Given the description of an element on the screen output the (x, y) to click on. 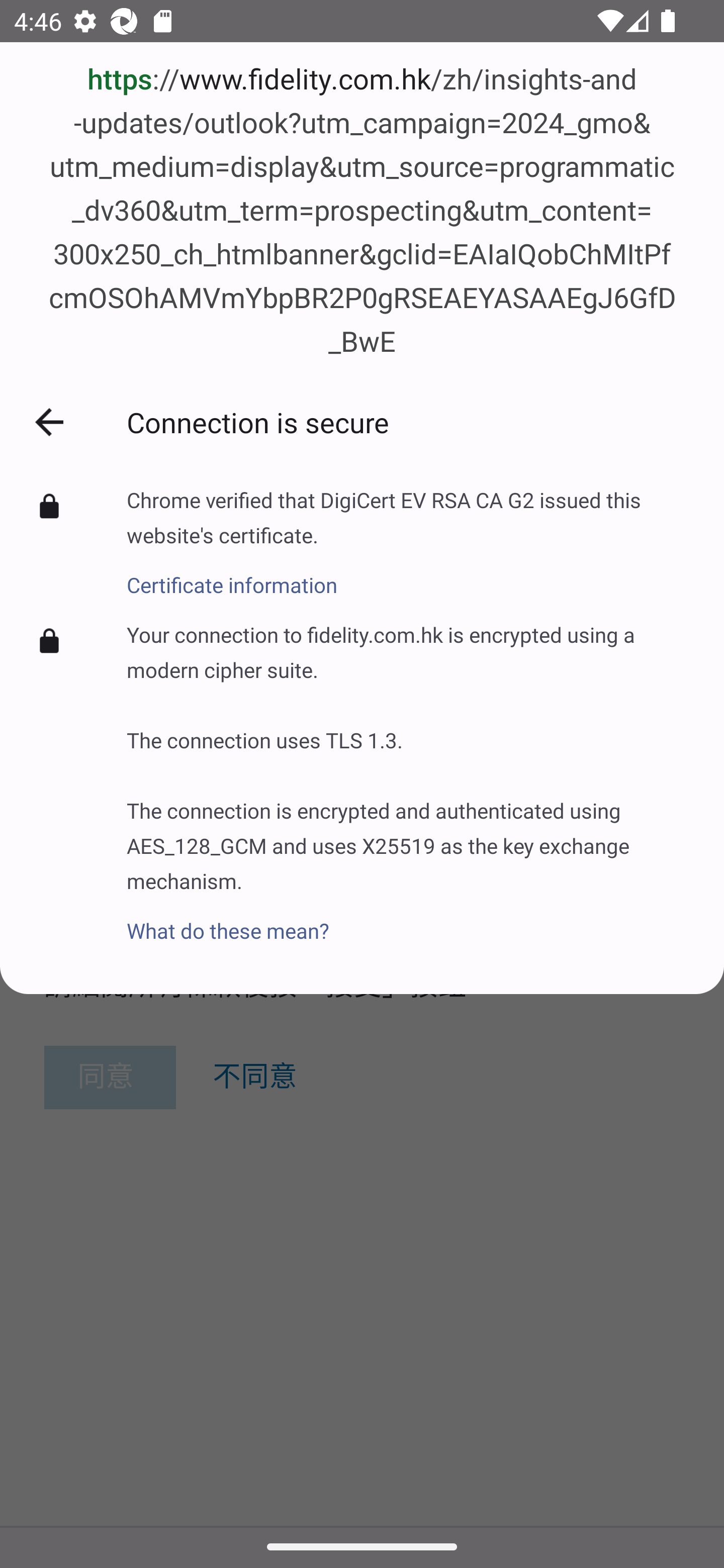
Back (49, 421)
Certificate information (410, 573)
What do these mean? (410, 920)
